Given the description of an element on the screen output the (x, y) to click on. 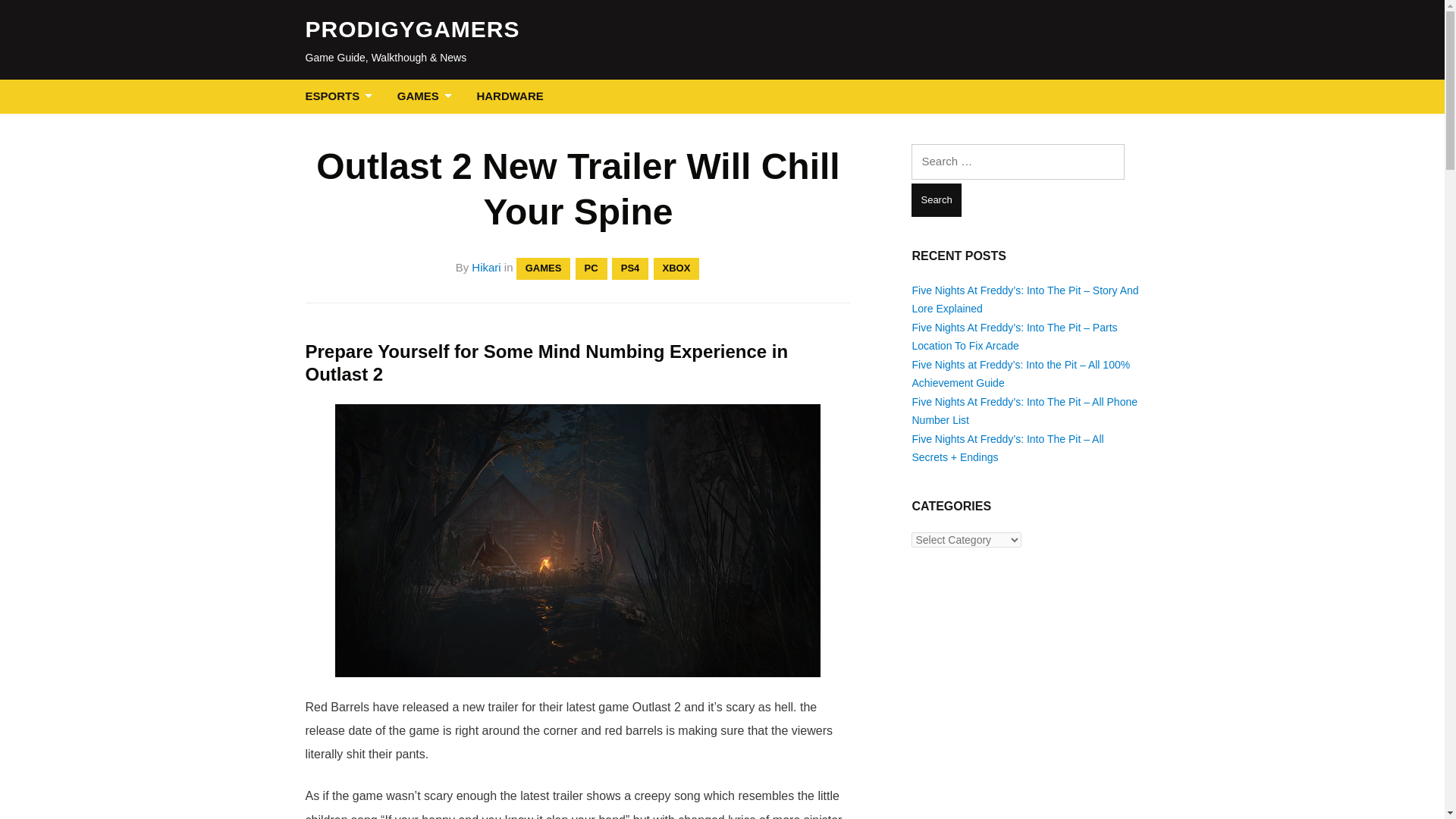
HARDWARE (509, 96)
PRODIGYGAMERS (411, 28)
Hikari (485, 267)
XBOX (676, 268)
GAMES (543, 268)
Search (935, 200)
Posts by Hikari (485, 267)
PS4 (630, 268)
Search (935, 200)
ESPORTS (341, 96)
